Given the description of an element on the screen output the (x, y) to click on. 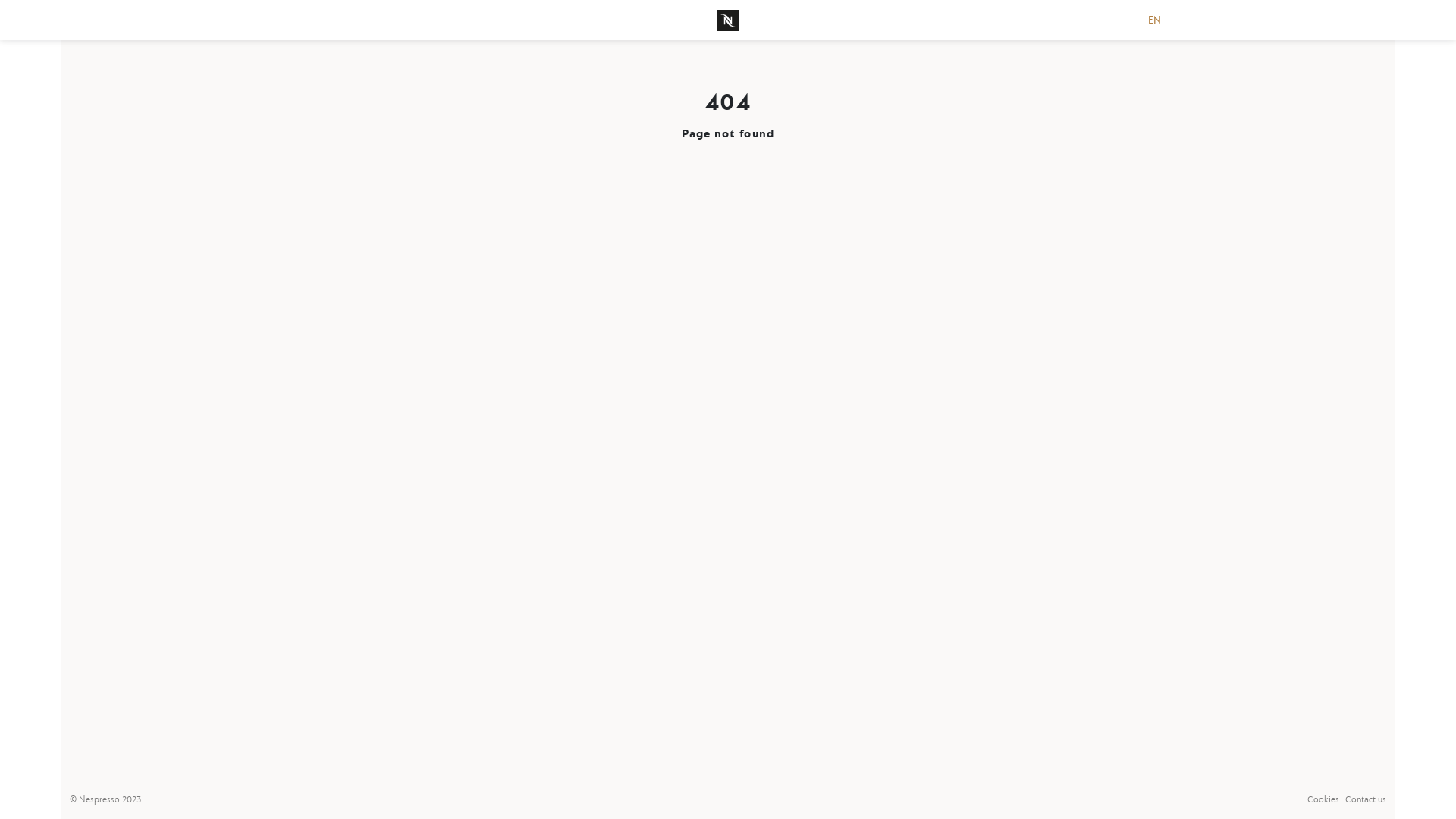
Contact us Element type: text (1365, 799)
NespressoEV Element type: hover (727, 19)
EN Element type: text (1154, 20)
Cookies Element type: text (1323, 799)
